Given the description of an element on the screen output the (x, y) to click on. 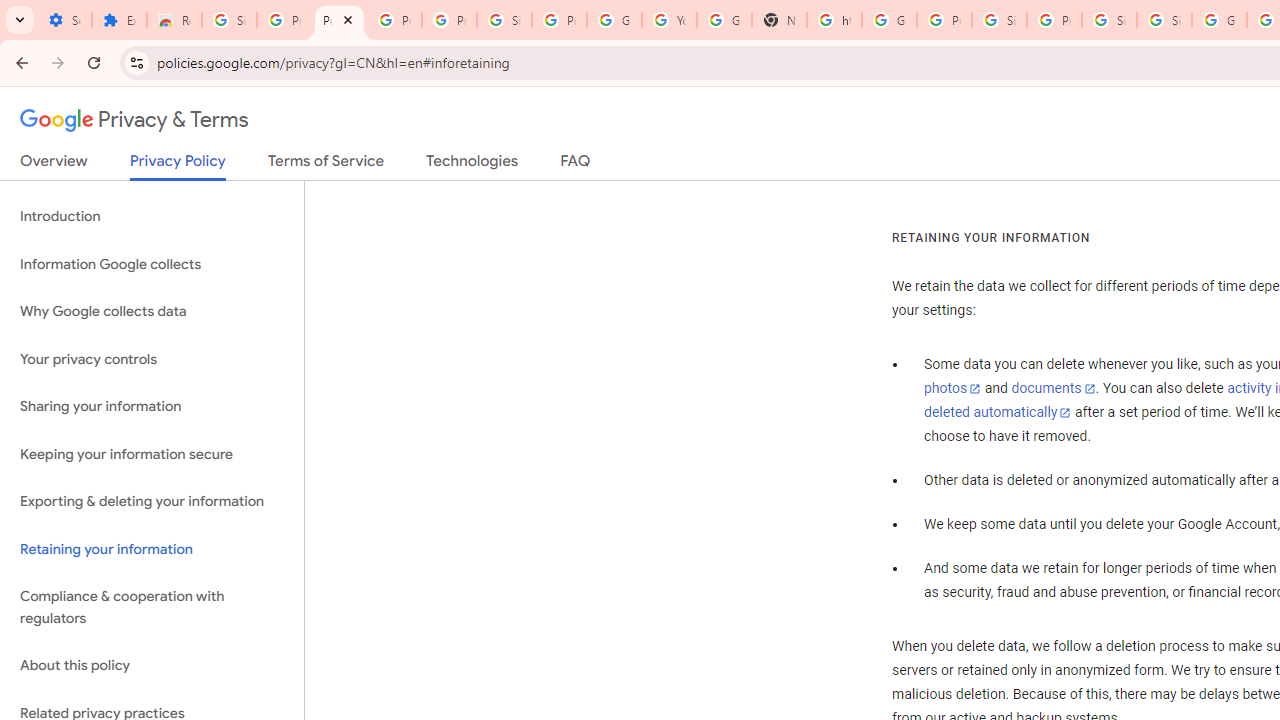
Sharing your information (152, 407)
Sign in - Google Accounts (1108, 20)
About this policy (152, 666)
https://scholar.google.com/ (833, 20)
